Given the description of an element on the screen output the (x, y) to click on. 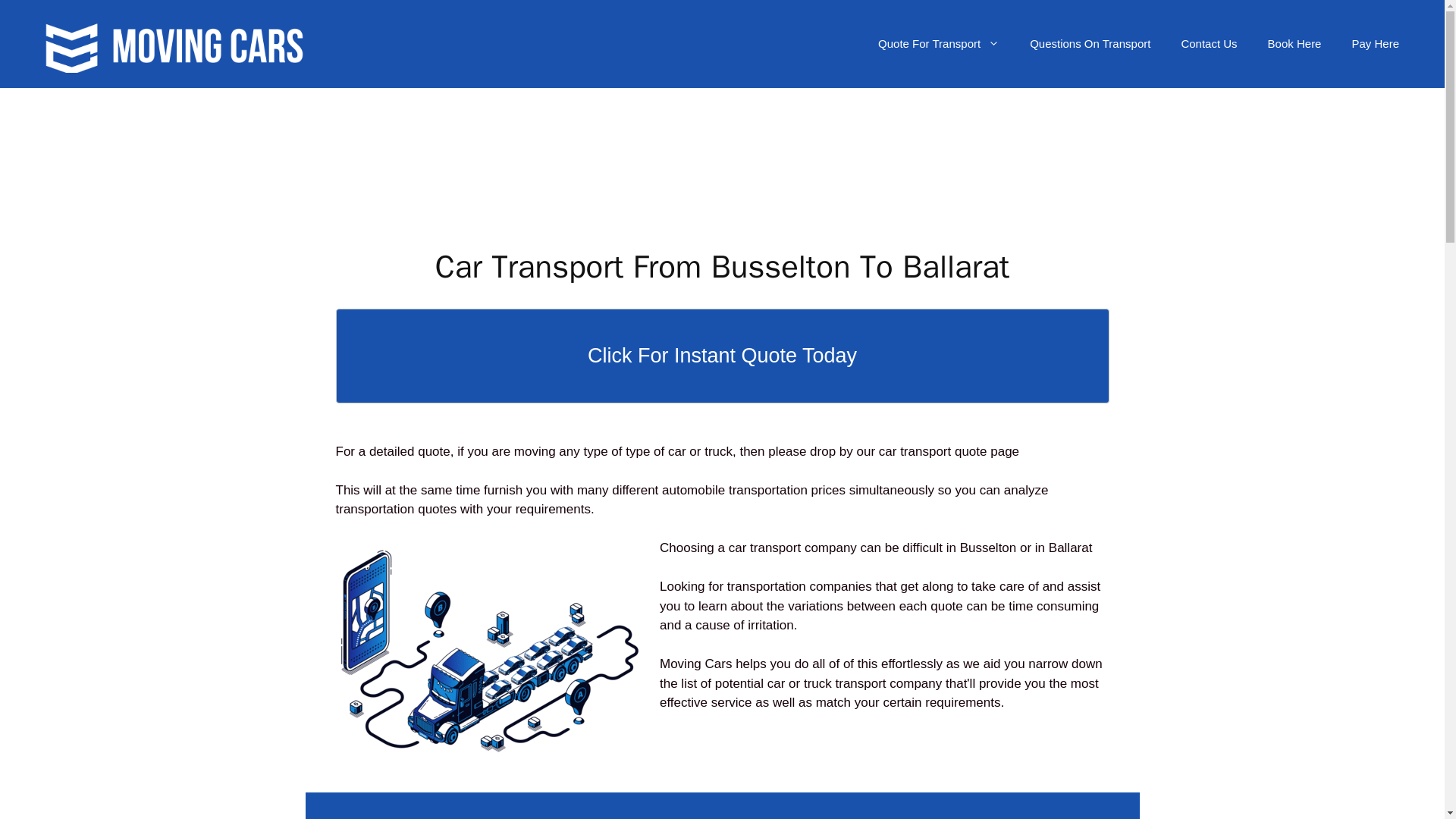
Contact Us (1209, 43)
car transport quote (933, 451)
Click For Instant Quote Today (721, 355)
Questions On Transport (1090, 43)
Pay Here (1374, 43)
Quote For Transport (938, 43)
Book Here (1294, 43)
